Given the description of an element on the screen output the (x, y) to click on. 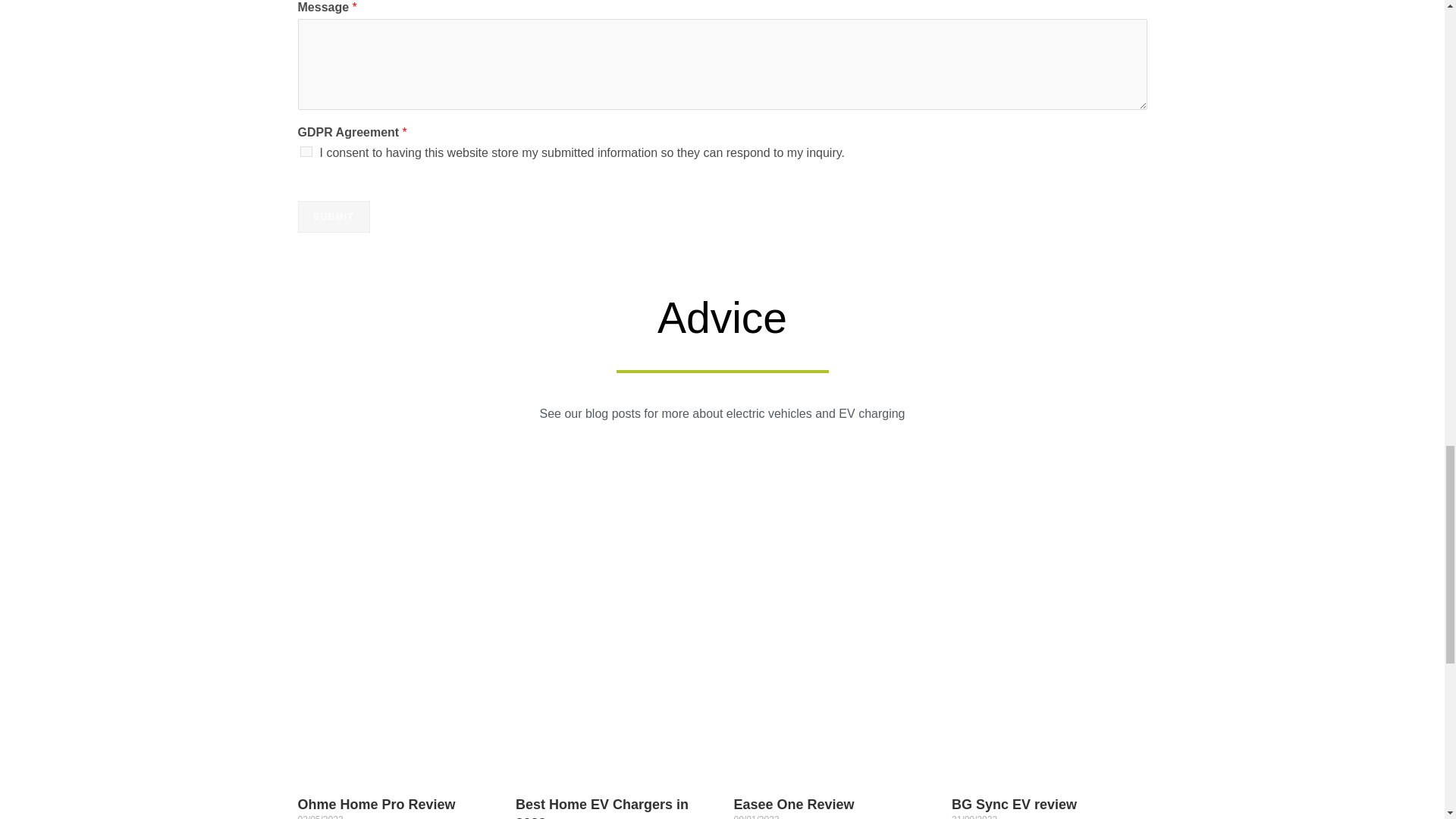
SUBMIT (333, 216)
BG Sync EV review (1014, 803)
Ohme Home Pro Review (375, 803)
Easee One Review (793, 803)
Best Home EV Chargers in 2023 (601, 807)
